Given the description of an element on the screen output the (x, y) to click on. 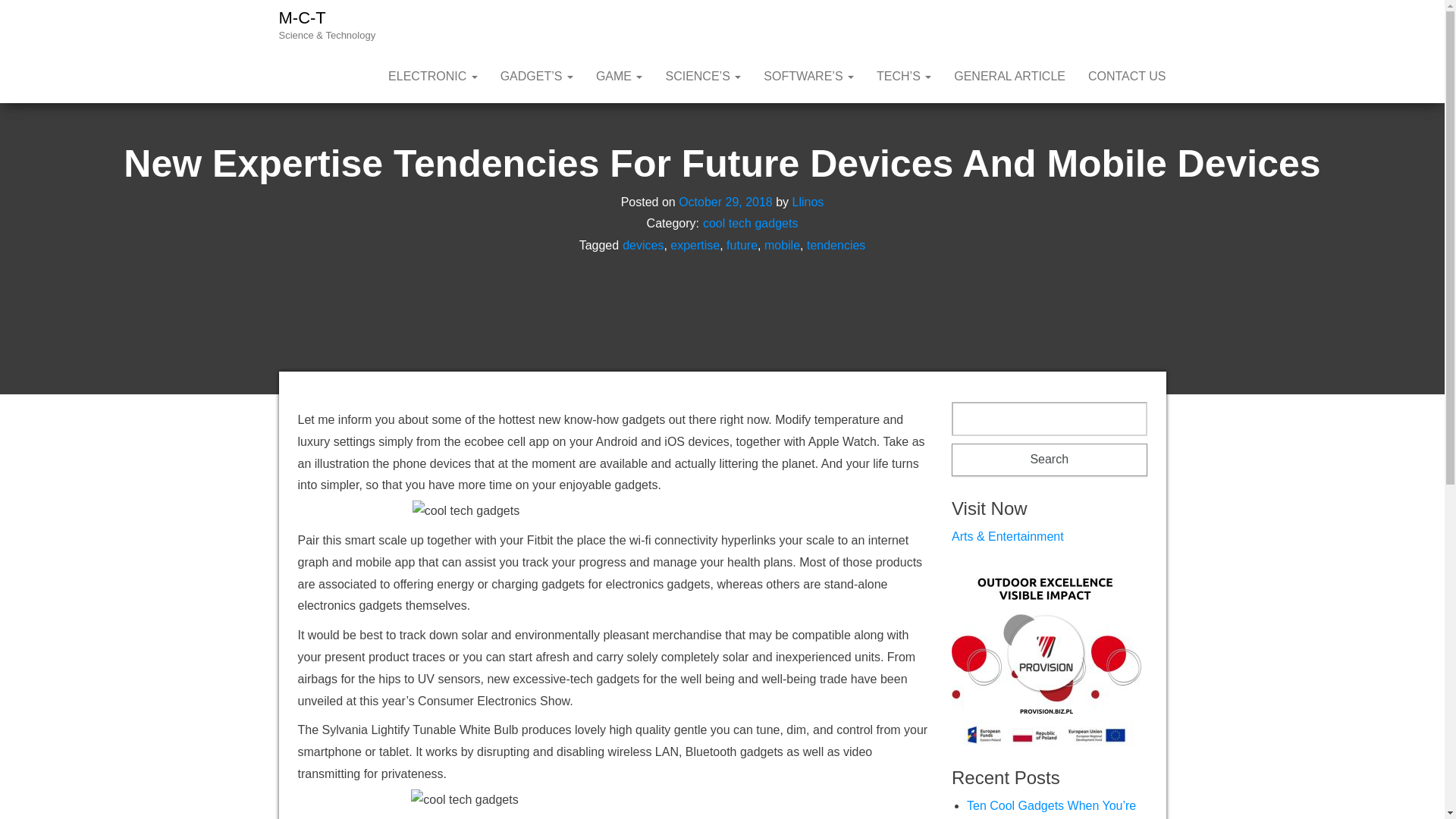
Search (1049, 459)
Search (1049, 459)
tendencies (835, 245)
M-C-T (302, 17)
Gadget's (537, 76)
GAME (619, 76)
Game (619, 76)
cool tech gadgets (750, 223)
future (741, 245)
October 29, 2018 (725, 201)
